Given the description of an element on the screen output the (x, y) to click on. 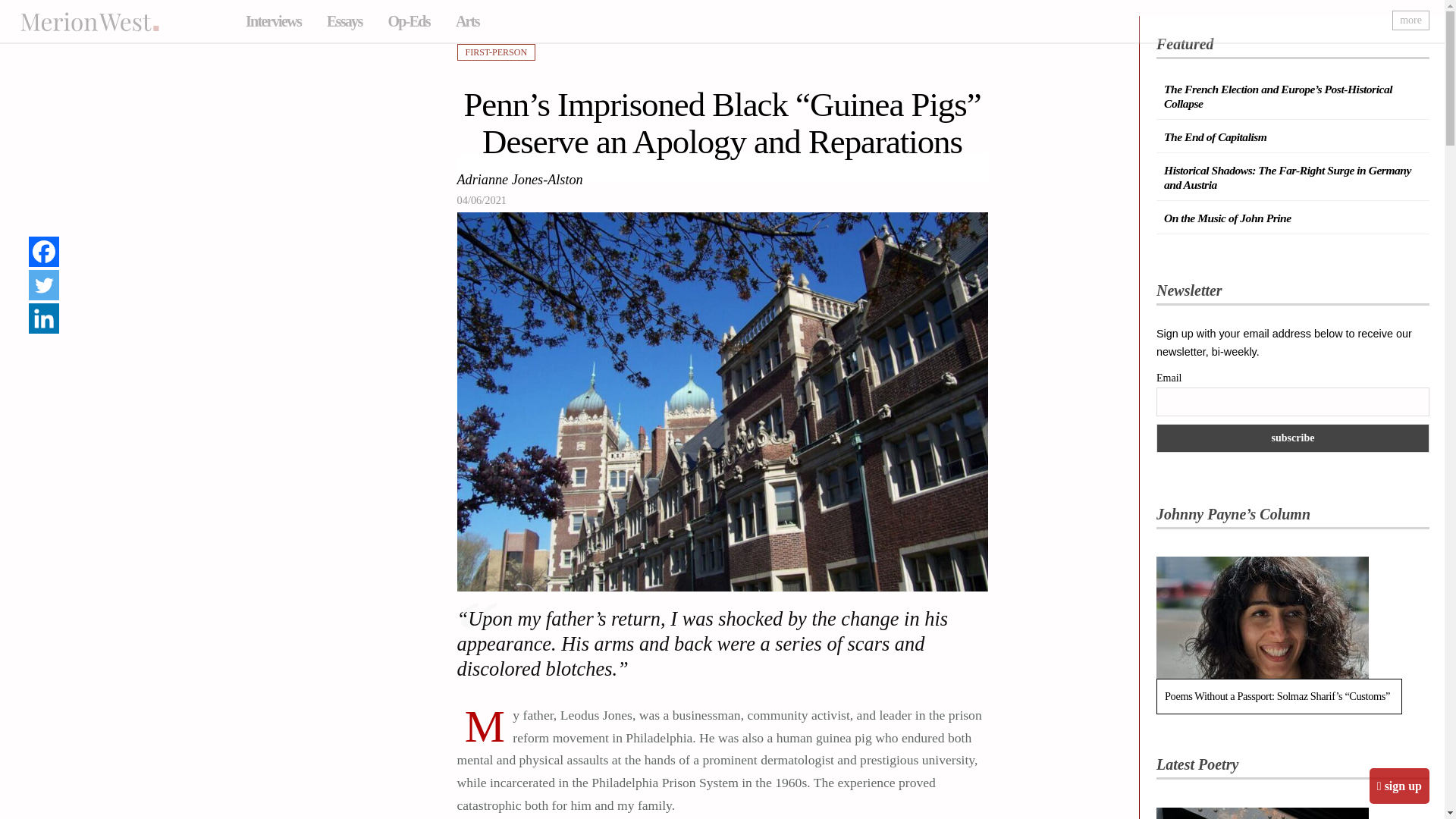
Arts (467, 21)
Subscribe (1292, 438)
Facebook (44, 251)
All posts by Adrianne Jones-Alston (519, 179)
Interviews (273, 21)
On the Music of John Prine (1227, 217)
Essays (344, 21)
Op-Eds (408, 21)
Adrianne Jones-Alston (519, 179)
Subscribe (1292, 438)
Twitter (44, 285)
Linkedin (44, 318)
more (1410, 20)
The End of Capitalism (1214, 136)
